Given the description of an element on the screen output the (x, y) to click on. 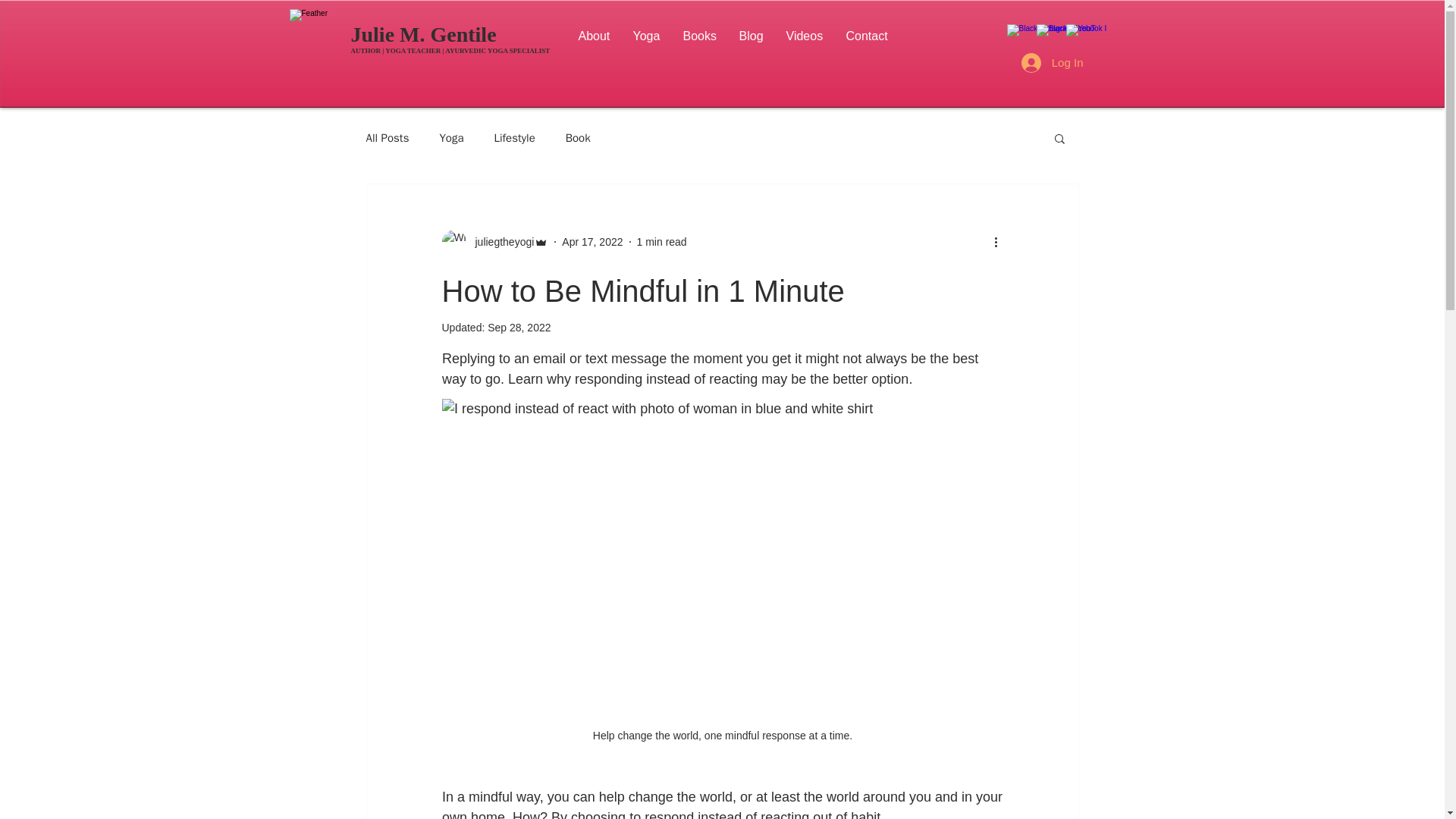
Contact (866, 35)
About (594, 35)
Book (578, 137)
Videos (804, 35)
All Posts (387, 137)
1 min read (662, 241)
Sep 28, 2022 (518, 327)
Blog (751, 35)
Lifestyle (515, 137)
juliegtheyogi (499, 241)
Yoga (451, 137)
Log In (1052, 62)
Yoga (646, 35)
juliegtheyogi (494, 241)
Julie M. Gentile (423, 33)
